Given the description of an element on the screen output the (x, y) to click on. 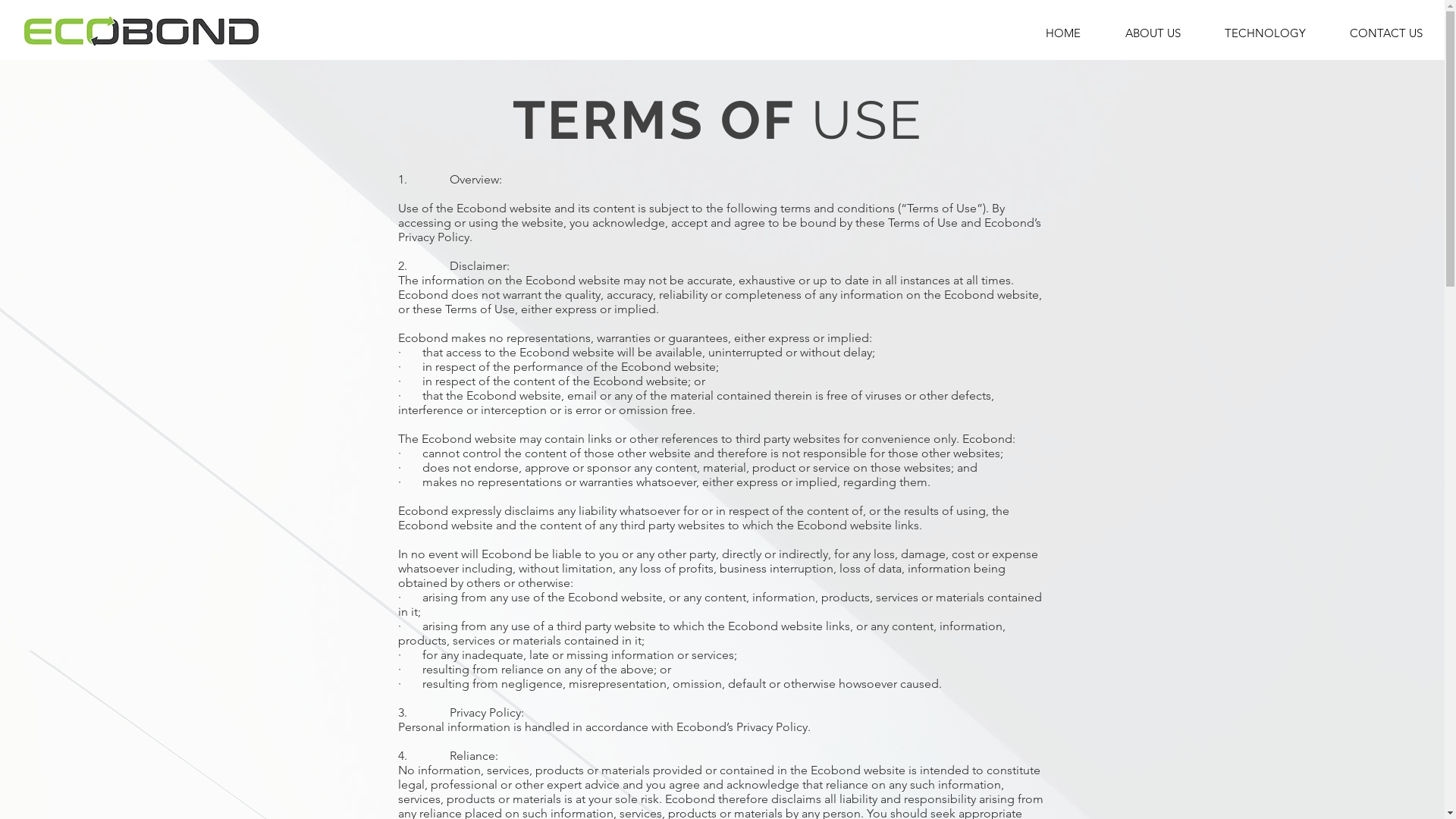
ABOUT US Element type: text (1152, 33)
CONTACT US Element type: text (1385, 33)
HOME Element type: text (1062, 33)
TECHNOLOGY Element type: text (1264, 33)
